Given the description of an element on the screen output the (x, y) to click on. 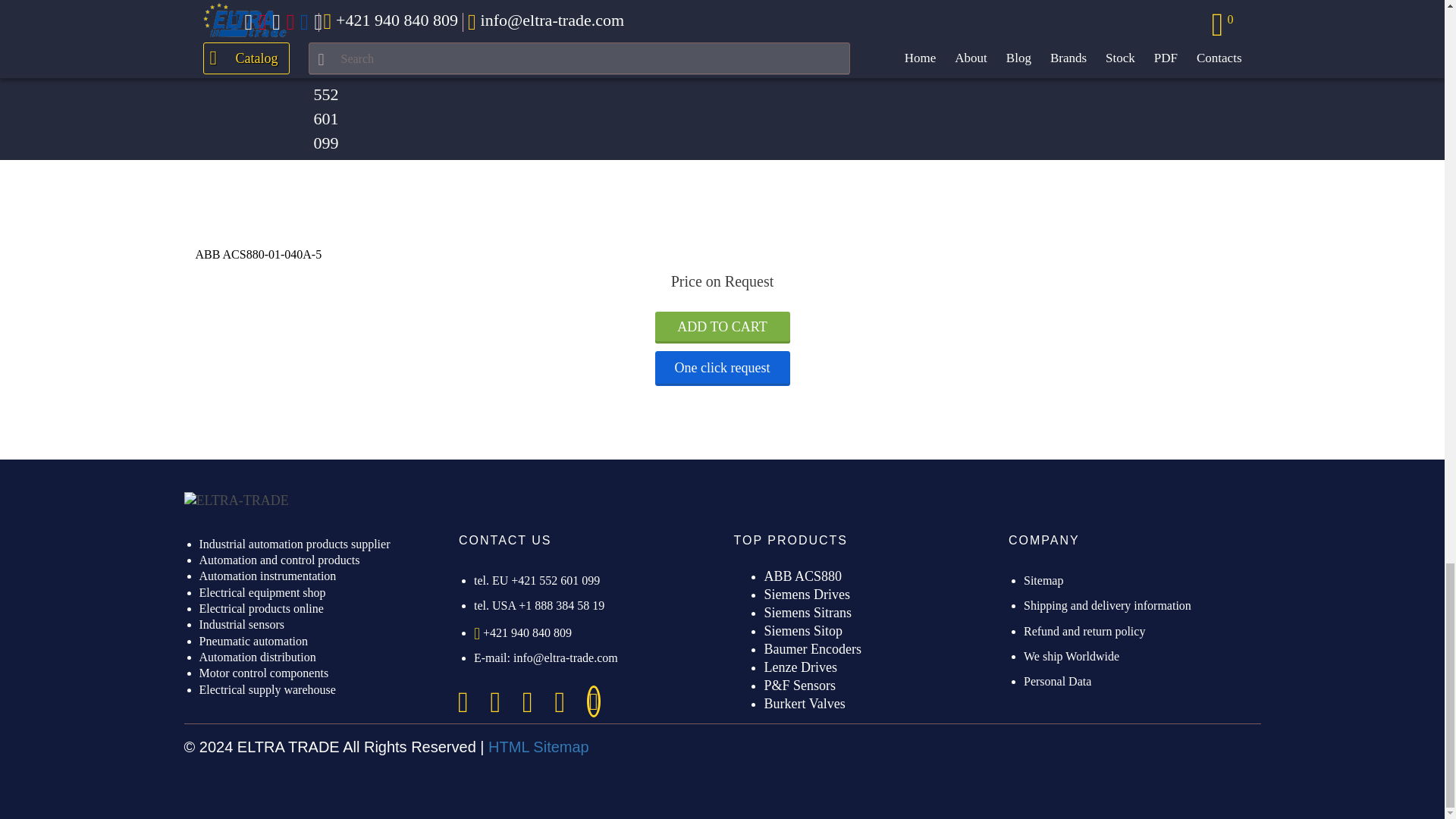
ABB ACS880-01-040A-5 (258, 254)
Add to cart (722, 327)
Add to cart (722, 11)
Add to cart (722, 11)
One click request (722, 47)
One click request (722, 368)
Add to cart (722, 327)
